Given the description of an element on the screen output the (x, y) to click on. 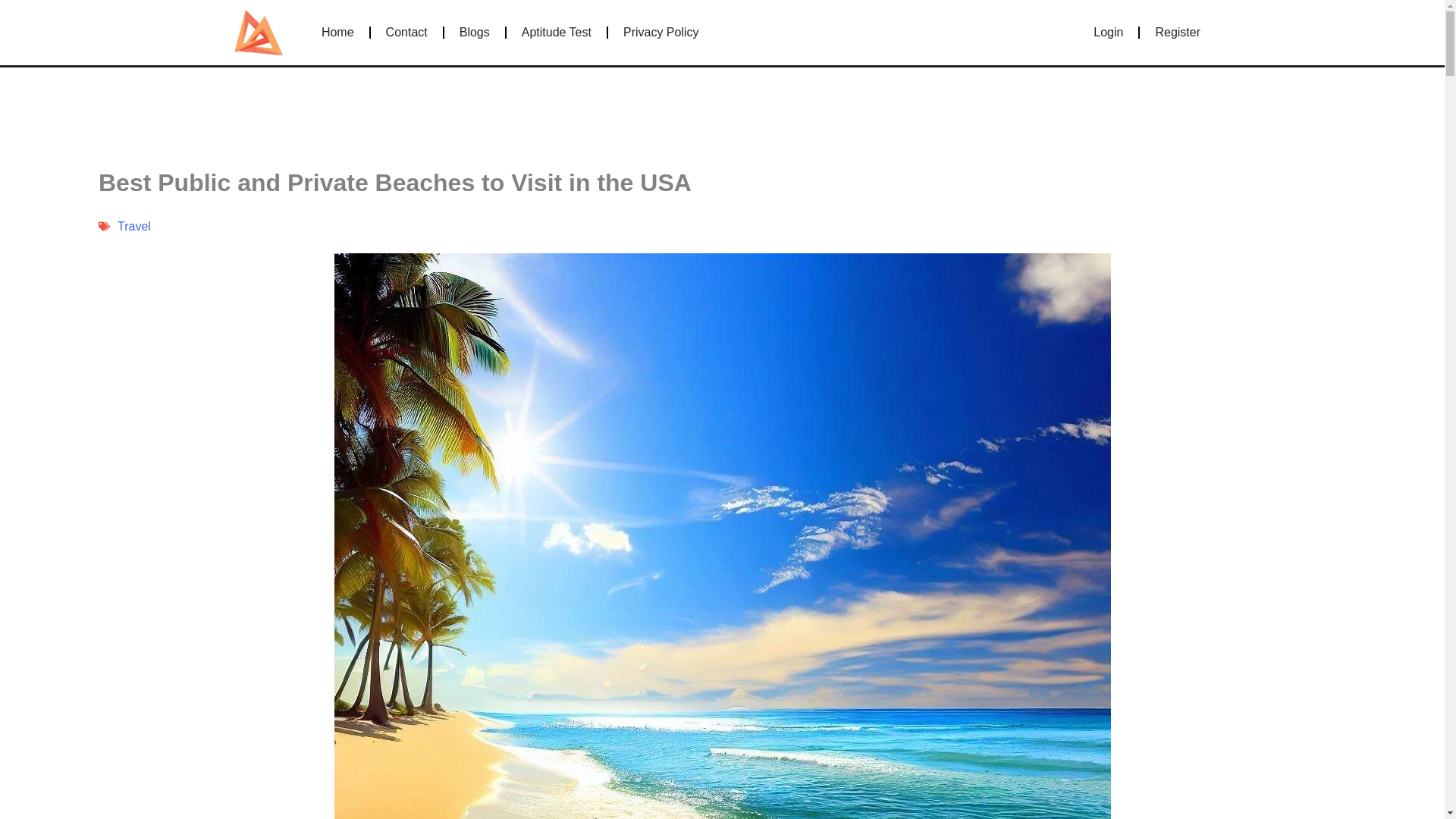
Login (1108, 32)
Aptitude Test (556, 32)
Register (1177, 32)
Contact (406, 32)
Privacy Policy (661, 32)
Home (337, 32)
Blogs (474, 32)
